Given the description of an element on the screen output the (x, y) to click on. 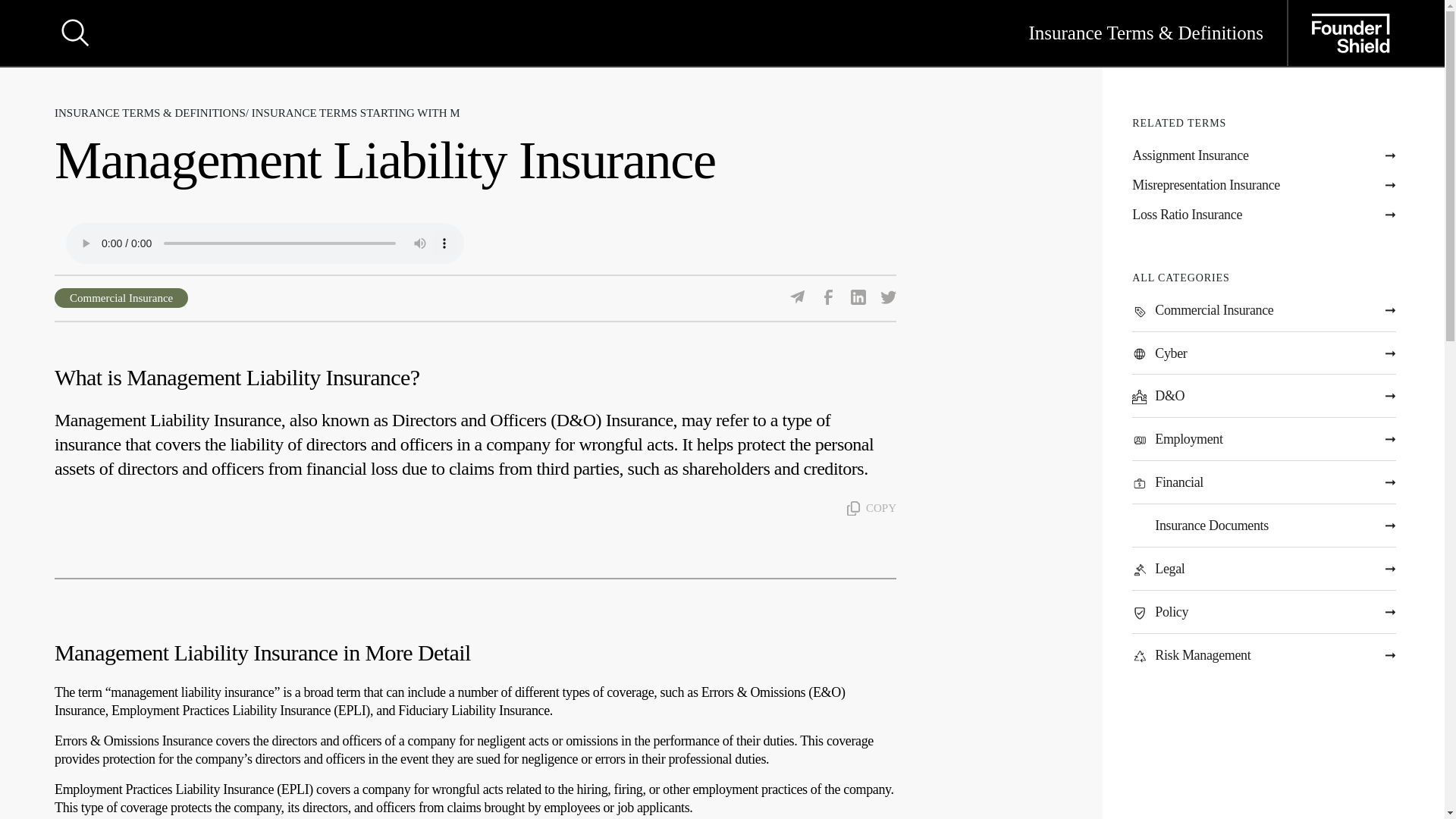
Founder Shield (1345, 33)
Share Via Twitter (888, 296)
Commercial Insurance (121, 297)
Search (75, 33)
INSURANCE TERMS STARTING WITH M (355, 112)
Share Via Facebook (828, 296)
Share Via LinkedIn (858, 296)
Share Via Email (797, 296)
